Given the description of an element on the screen output the (x, y) to click on. 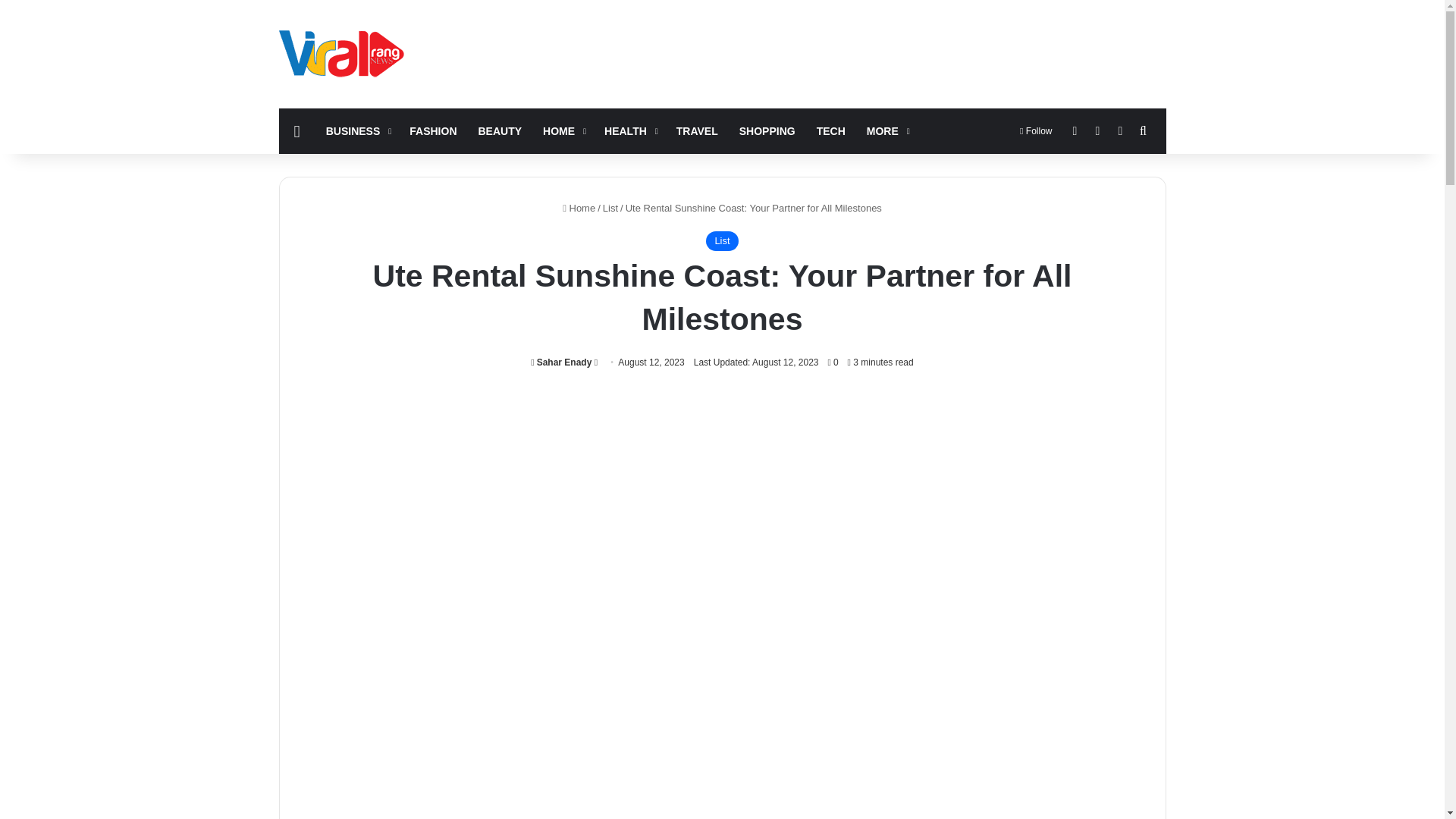
Sahar Enady (561, 362)
BUSINESS (356, 130)
TRAVEL (697, 130)
SHOPPING (767, 130)
FASHION (432, 130)
HOME (563, 130)
Viral Rang (344, 53)
BEAUTY (499, 130)
HEALTH (629, 130)
Follow (1035, 130)
